Given the description of an element on the screen output the (x, y) to click on. 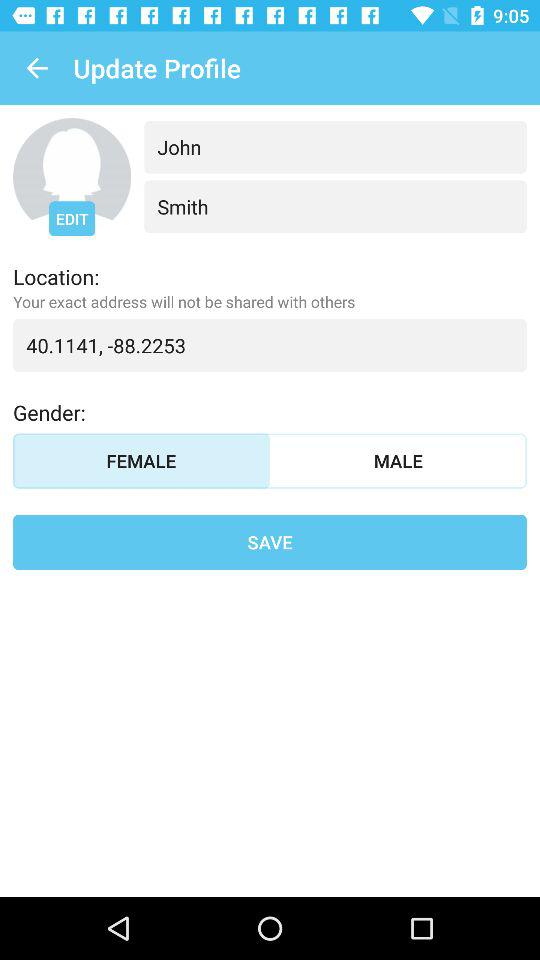
select item next to male icon (141, 460)
